Given the description of an element on the screen output the (x, y) to click on. 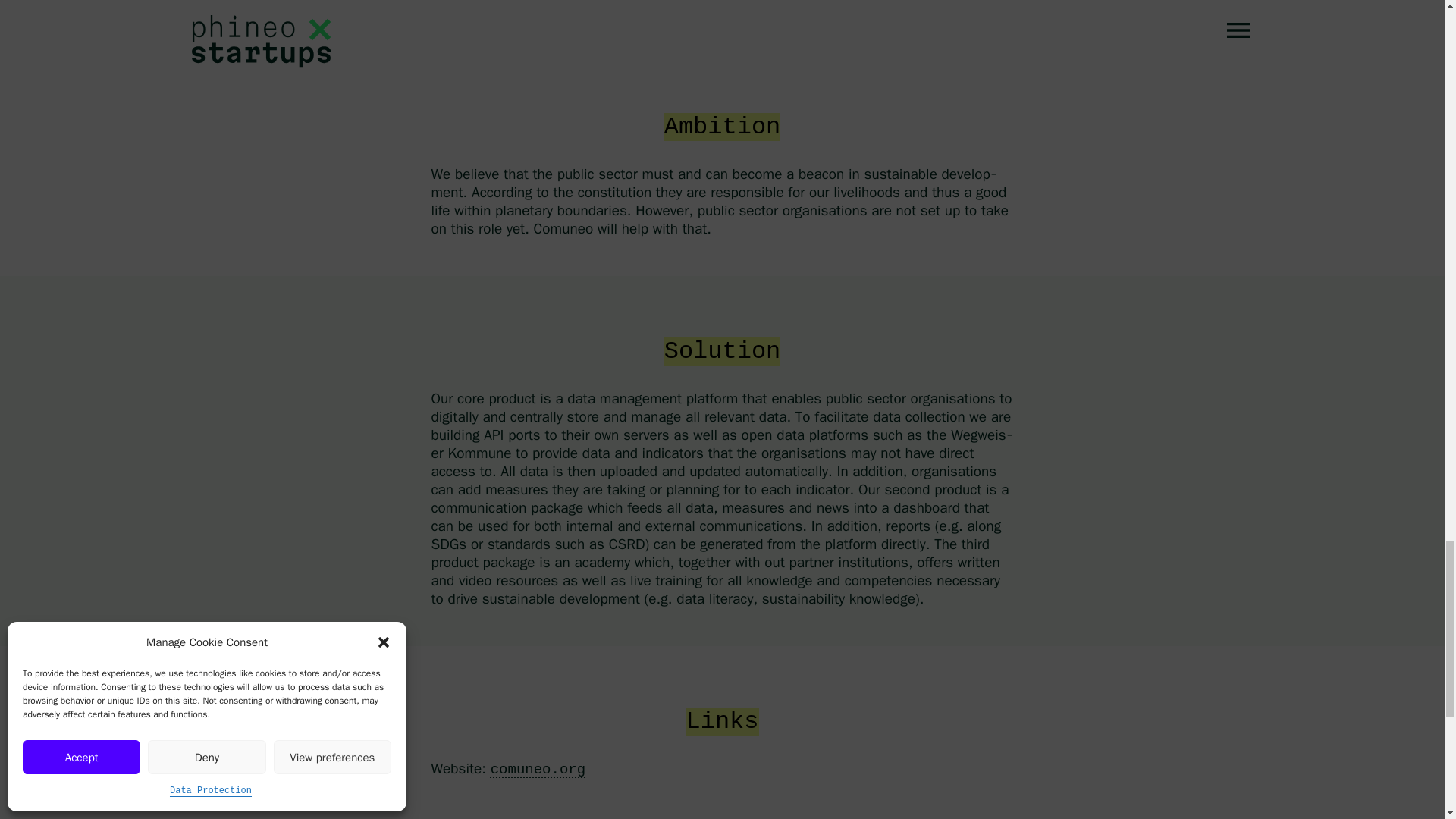
comuneo.org (537, 769)
